Given the description of an element on the screen output the (x, y) to click on. 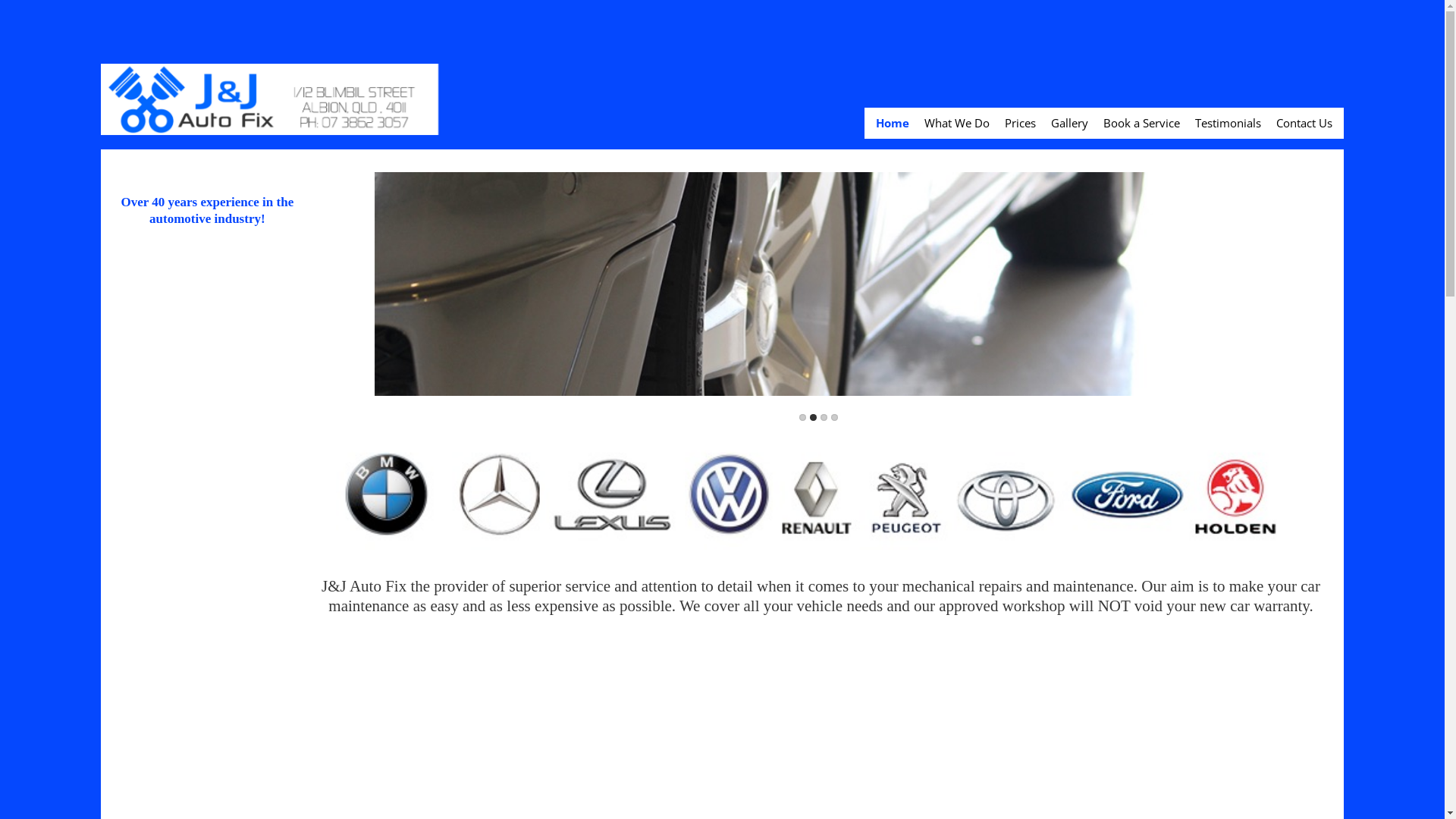
What We Do Element type: text (956, 123)
Book a Service Element type: text (1141, 123)
Testimonials Element type: text (1228, 123)
Contact Us Element type: text (1304, 123)
1 Element type: text (802, 417)
Prices Element type: text (1019, 123)
3 Element type: text (823, 417)
4 Element type: text (834, 417)
2 Element type: text (812, 417)
Gallery Element type: text (1069, 123)
Home Element type: text (892, 123)
